Given the description of an element on the screen output the (x, y) to click on. 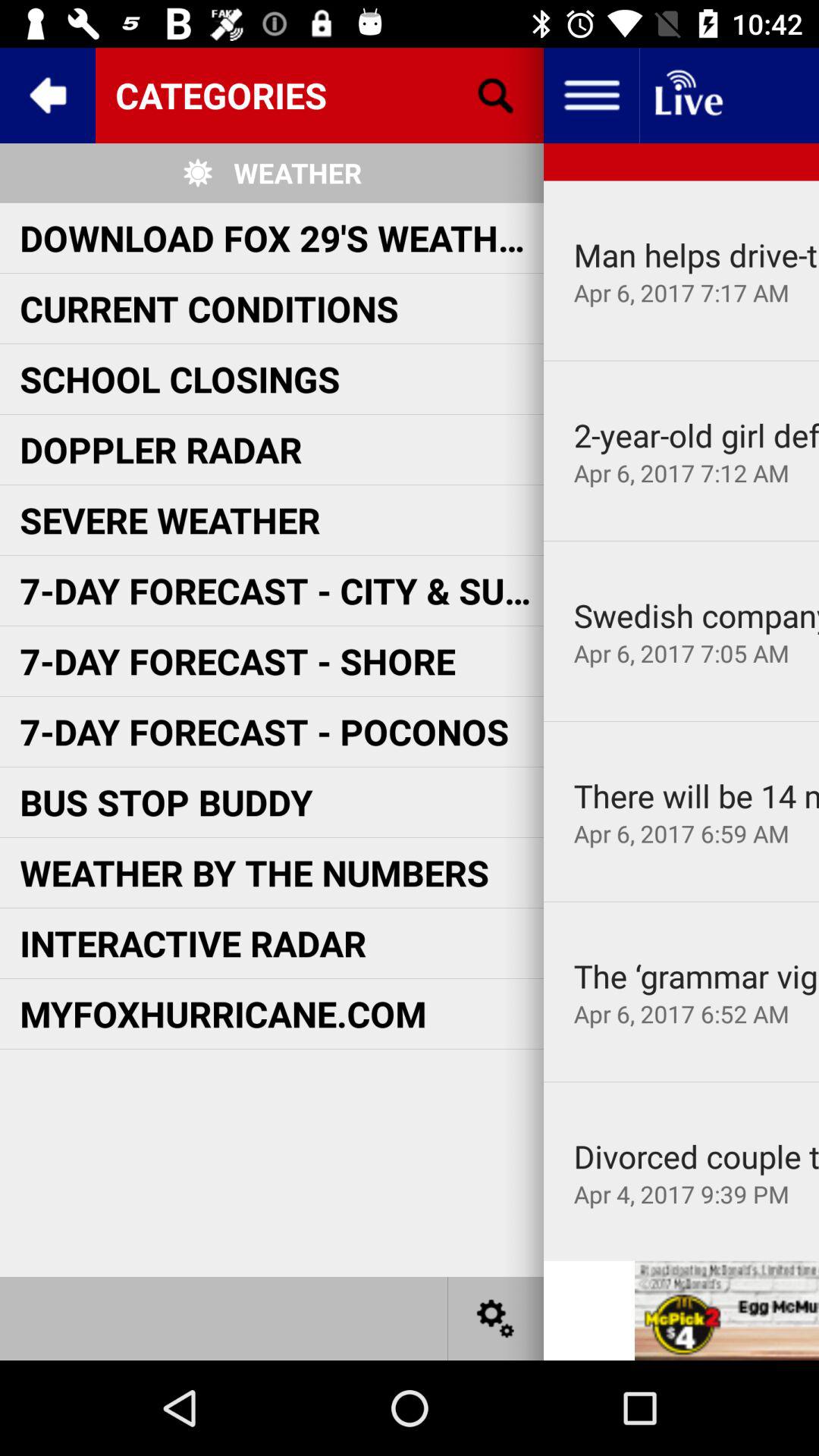
flip until severe weather (169, 519)
